Given the description of an element on the screen output the (x, y) to click on. 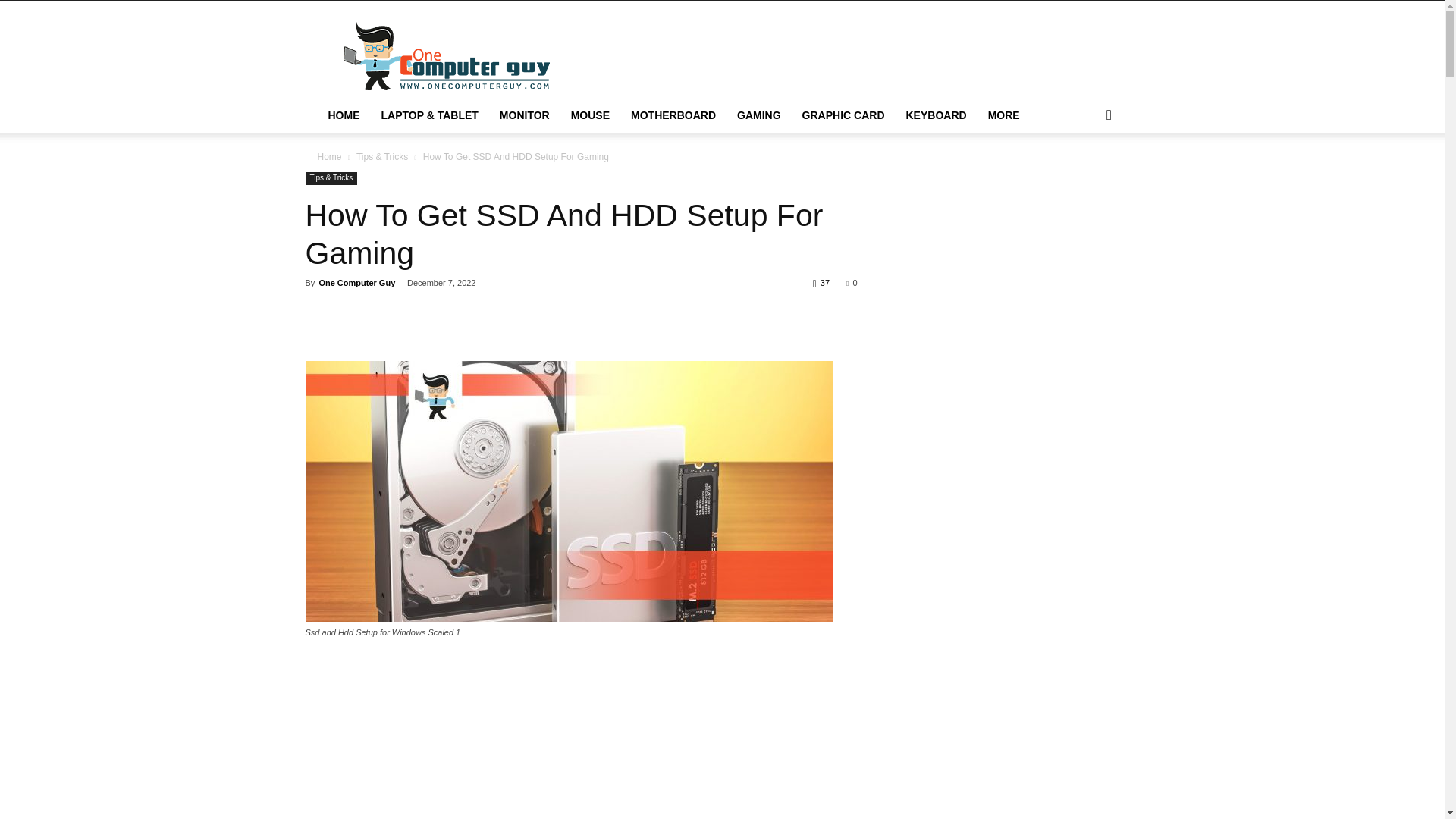
MOTHERBOARD (673, 115)
HOME (343, 115)
MONITOR (524, 115)
MOUSE (590, 115)
GAMING (759, 115)
GRAPHIC CARD (843, 115)
MORE (1003, 115)
KEYBOARD (935, 115)
